Given the description of an element on the screen output the (x, y) to click on. 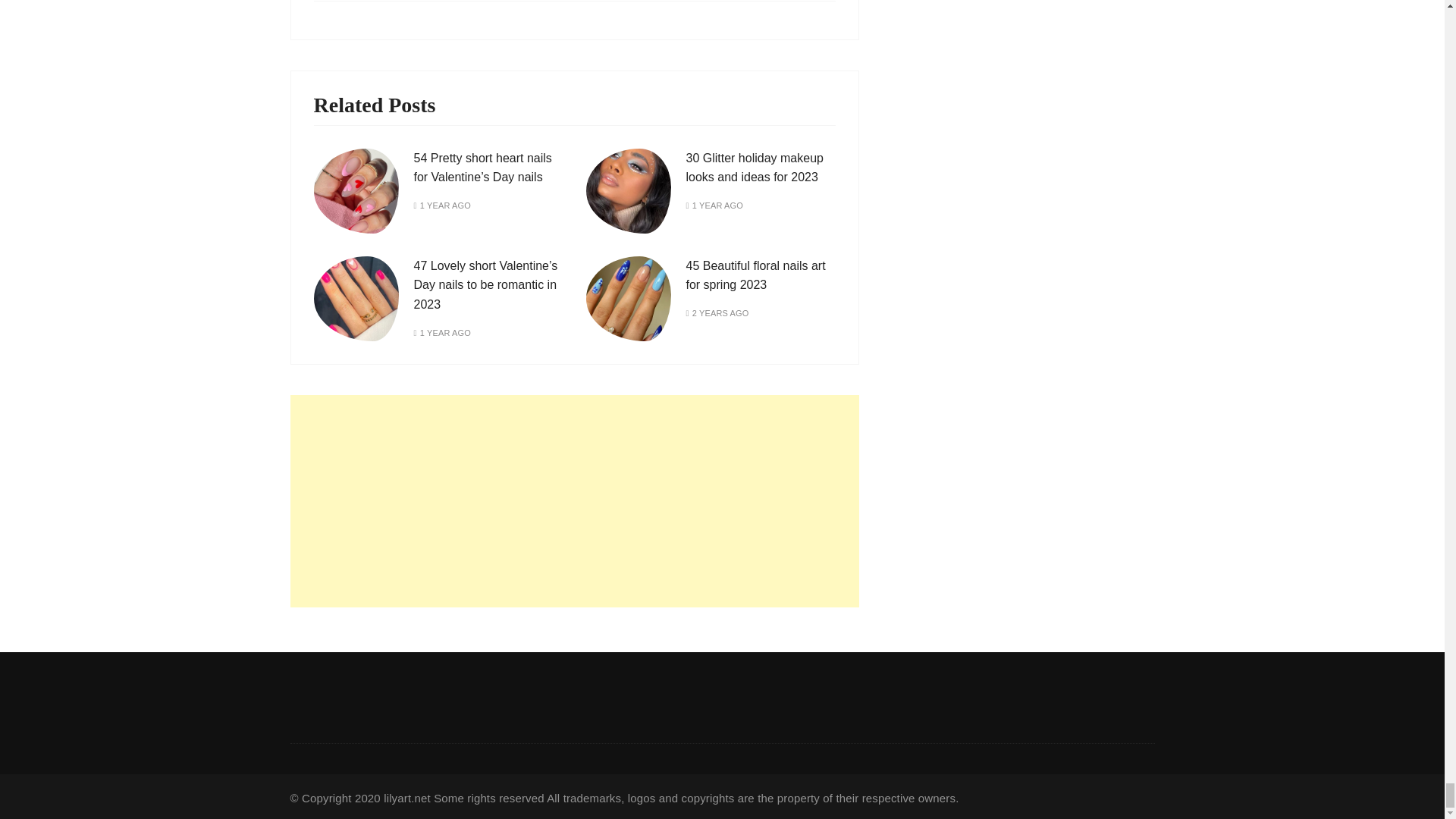
30 Glitter holiday makeup looks and ideas for 2023 (753, 167)
